Given the description of an element on the screen output the (x, y) to click on. 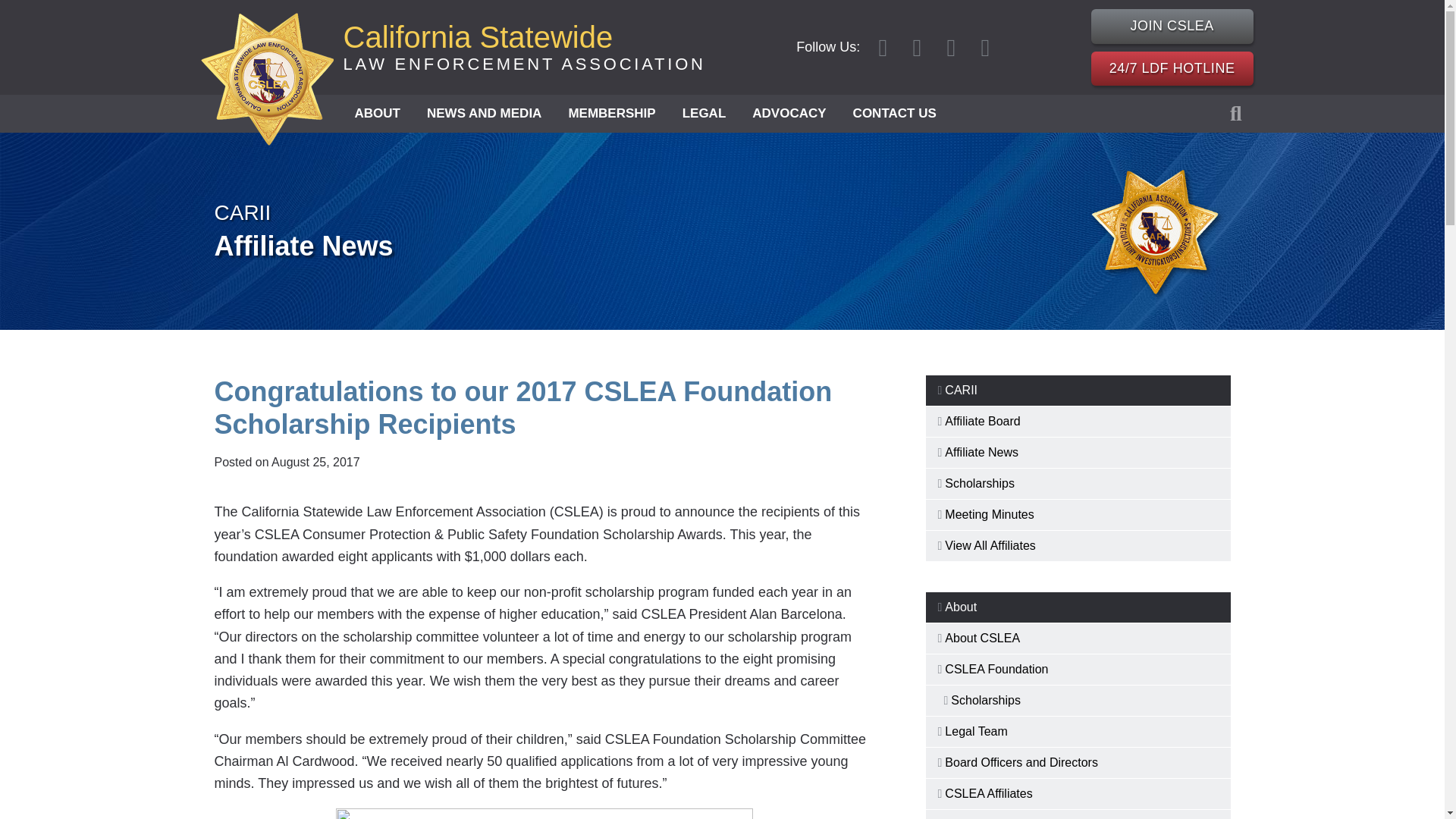
JOIN CSLEA (1171, 26)
NEWS AND MEDIA (523, 47)
Skip to primary navigation (483, 113)
MEMBERSHIP (376, 113)
